Given the description of an element on the screen output the (x, y) to click on. 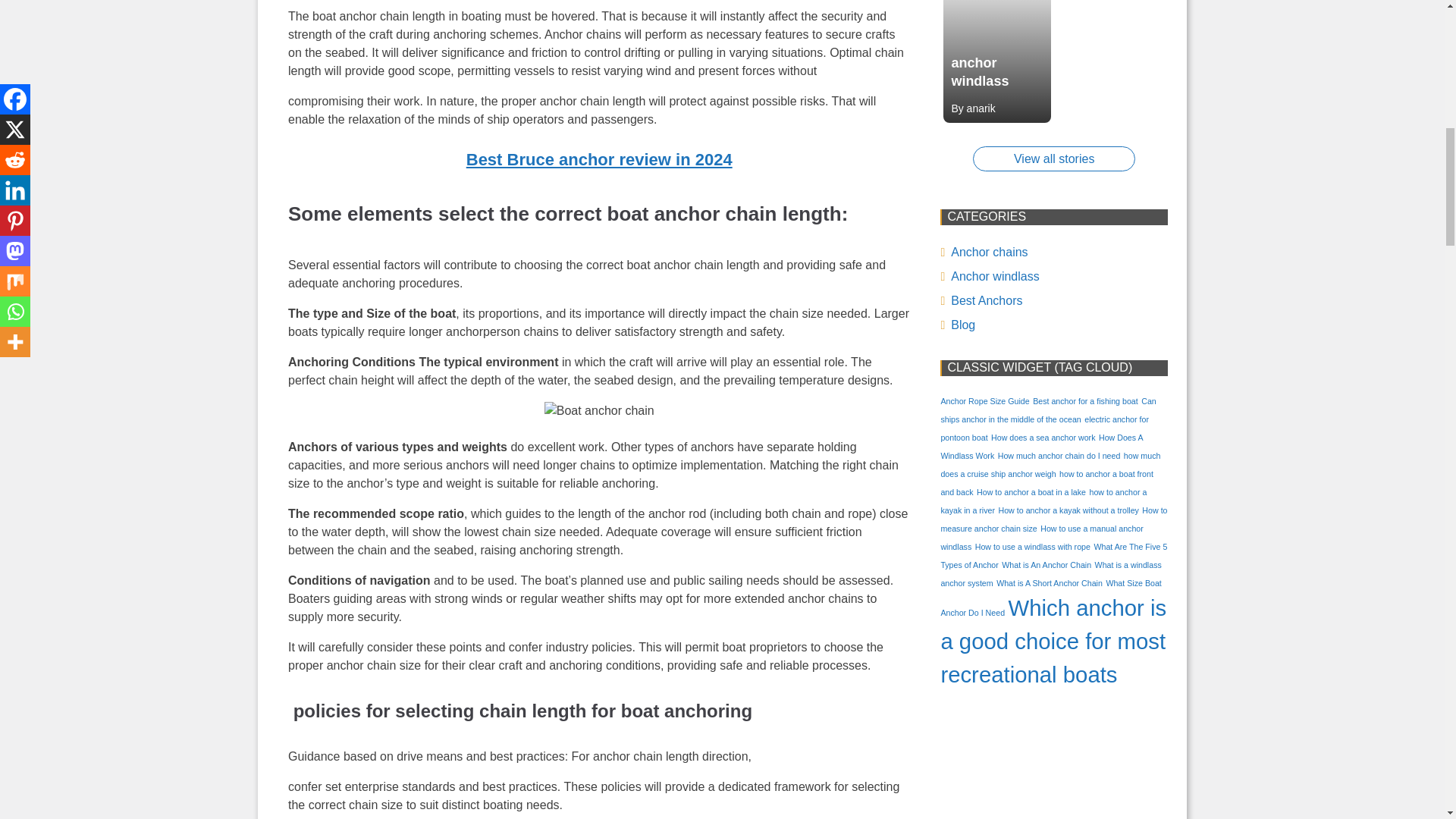
Best Bruce anchor review in 2024 (598, 158)
